Given the description of an element on the screen output the (x, y) to click on. 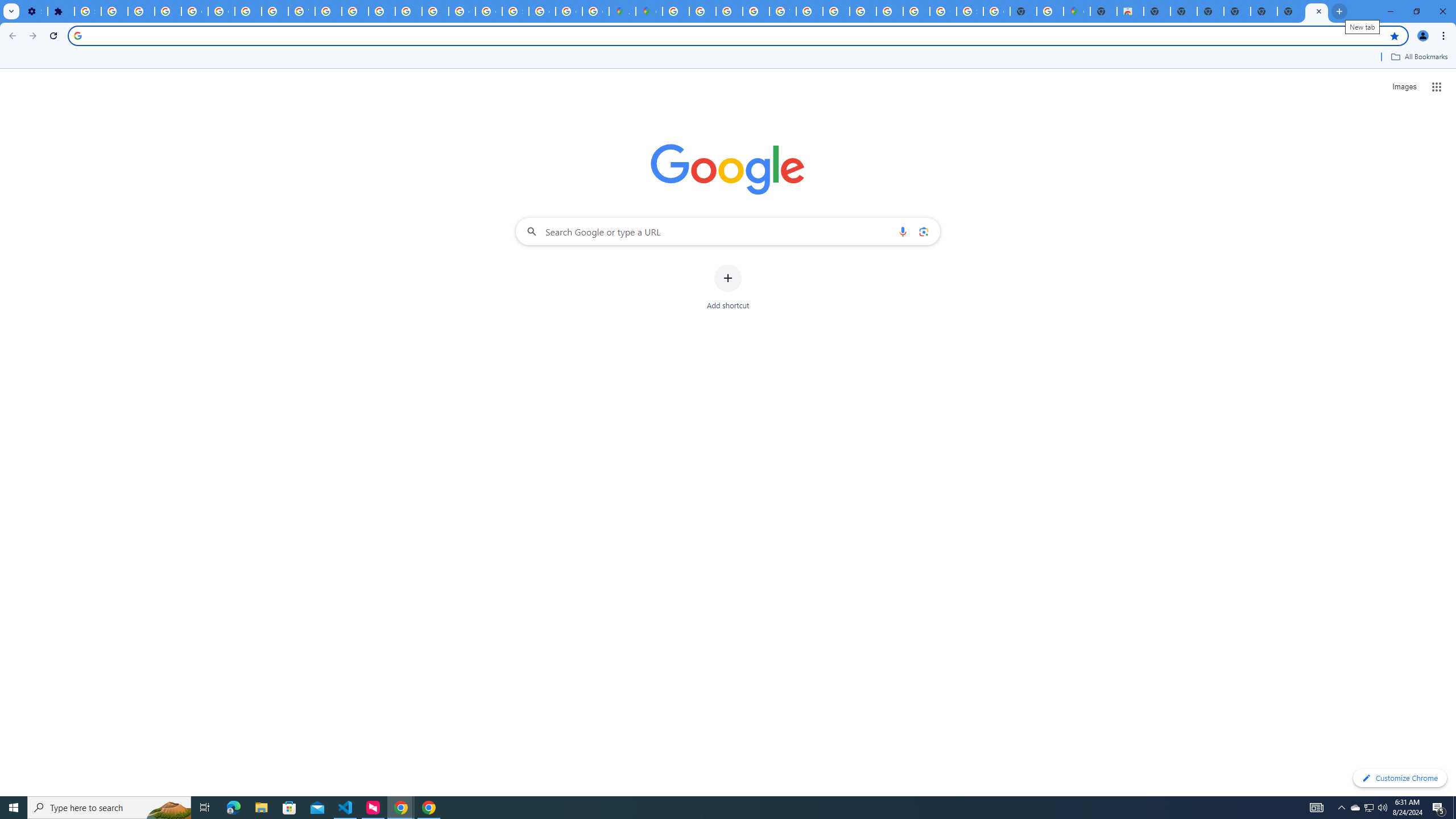
Extensions (61, 11)
Google Account Help (221, 11)
YouTube (301, 11)
Sign in - Google Accounts (970, 11)
Search for Images  (1403, 87)
New Tab (1103, 11)
Google Maps (1076, 11)
Delete photos & videos - Computer - Google Photos Help (114, 11)
Search Google or type a URL (727, 230)
